Given the description of an element on the screen output the (x, y) to click on. 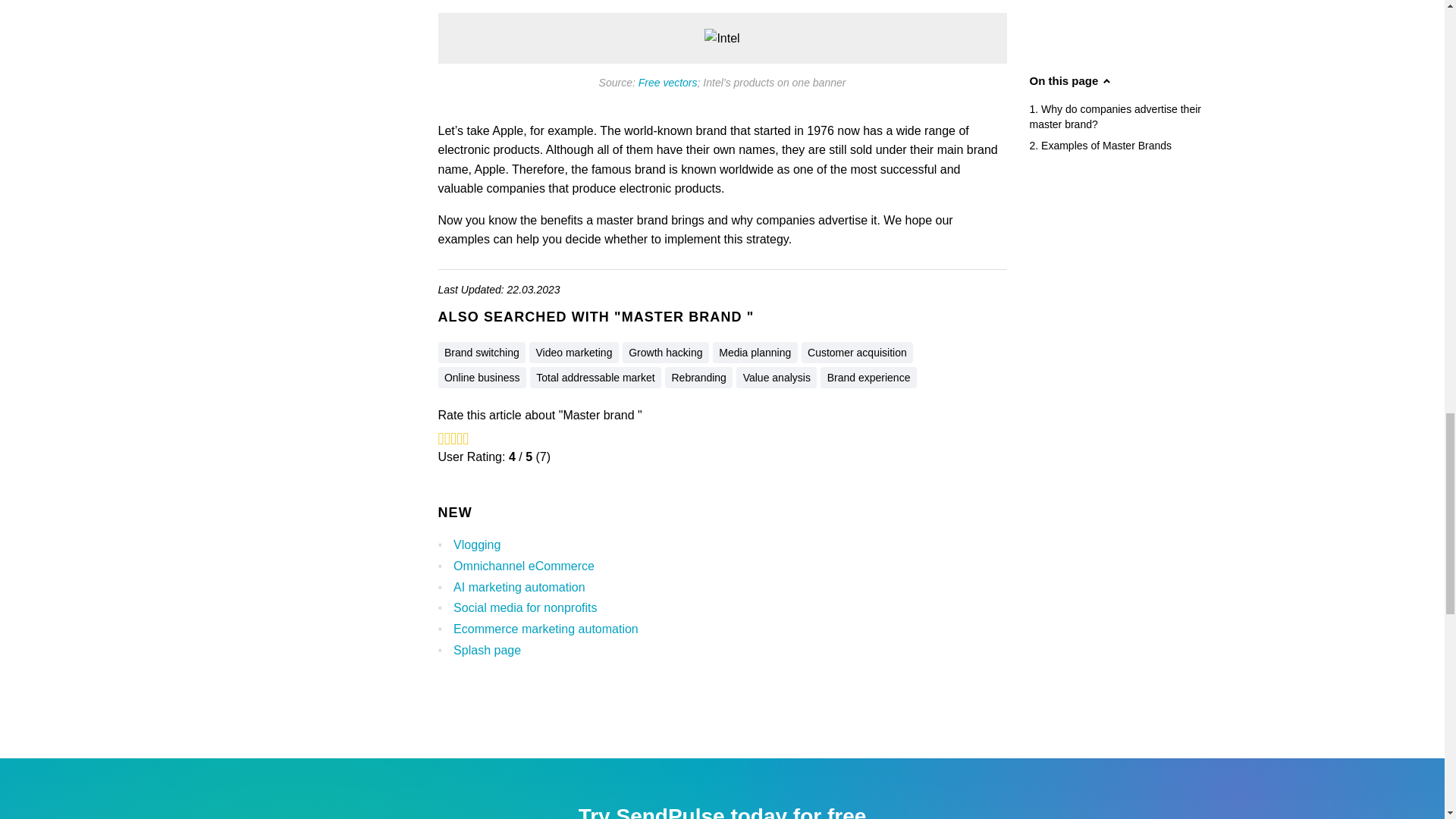
Intel (721, 38)
